Given the description of an element on the screen output the (x, y) to click on. 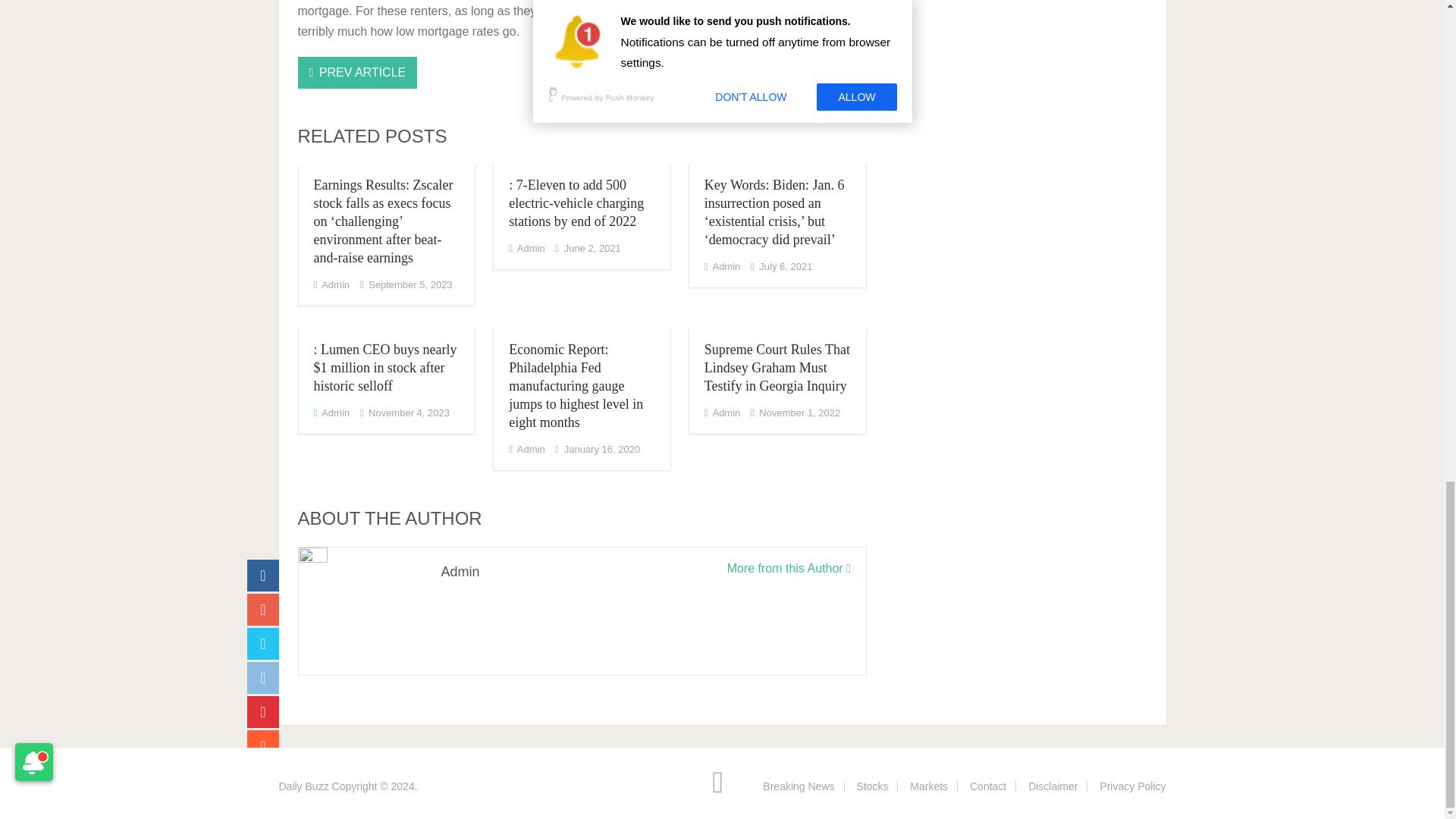
Posts by admin (530, 247)
Admin (335, 284)
Posts by admin (725, 266)
Posts by admin (530, 449)
PREV ARTICLE (356, 72)
NEXT ARTICLE (807, 72)
Posts by admin (335, 284)
Posts by admin (335, 412)
